Given the description of an element on the screen output the (x, y) to click on. 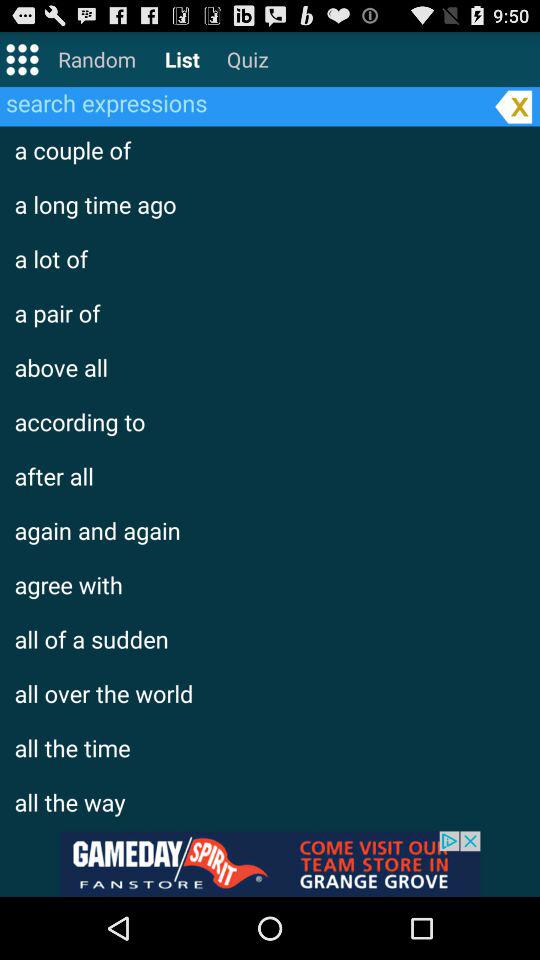
search input (244, 102)
